Given the description of an element on the screen output the (x, y) to click on. 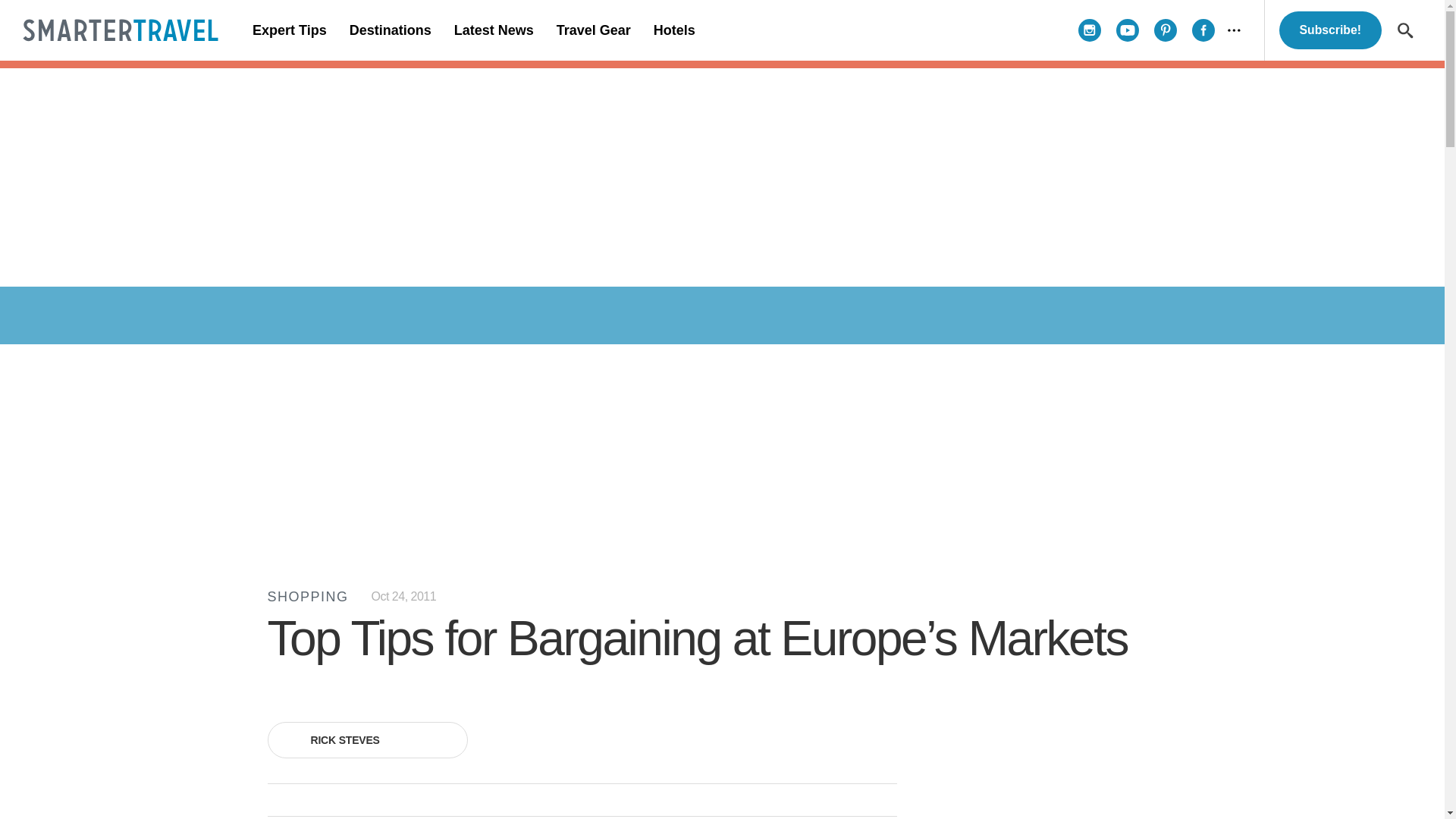
Latest News (493, 30)
Travel Gear (593, 30)
Hotels (674, 30)
Expert Tips (289, 30)
Subscribe! (1330, 30)
Destinations (389, 30)
